Given the description of an element on the screen output the (x, y) to click on. 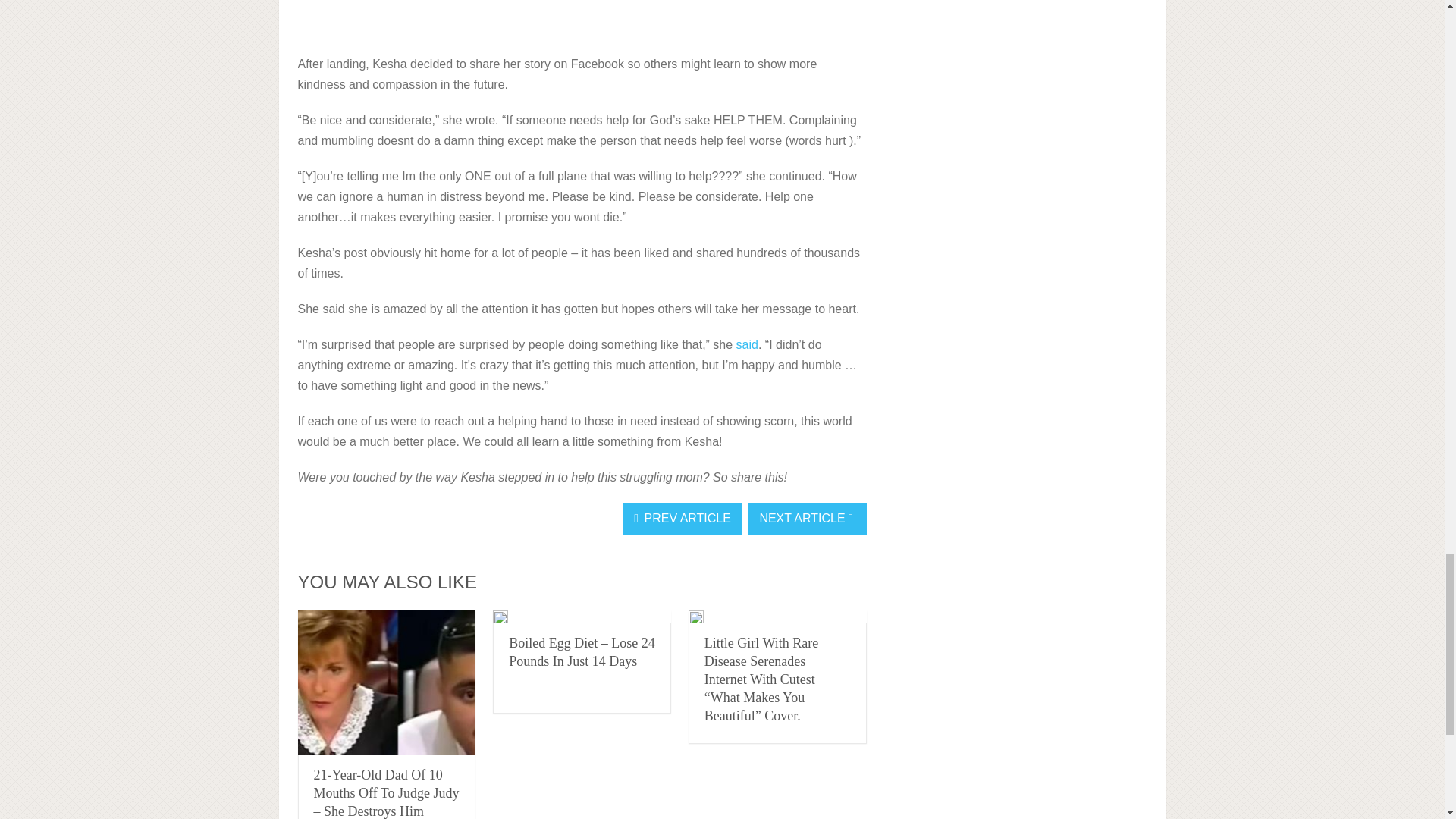
NEXT ARTICLE (807, 518)
PREV ARTICLE (682, 518)
said (747, 344)
